Given the description of an element on the screen output the (x, y) to click on. 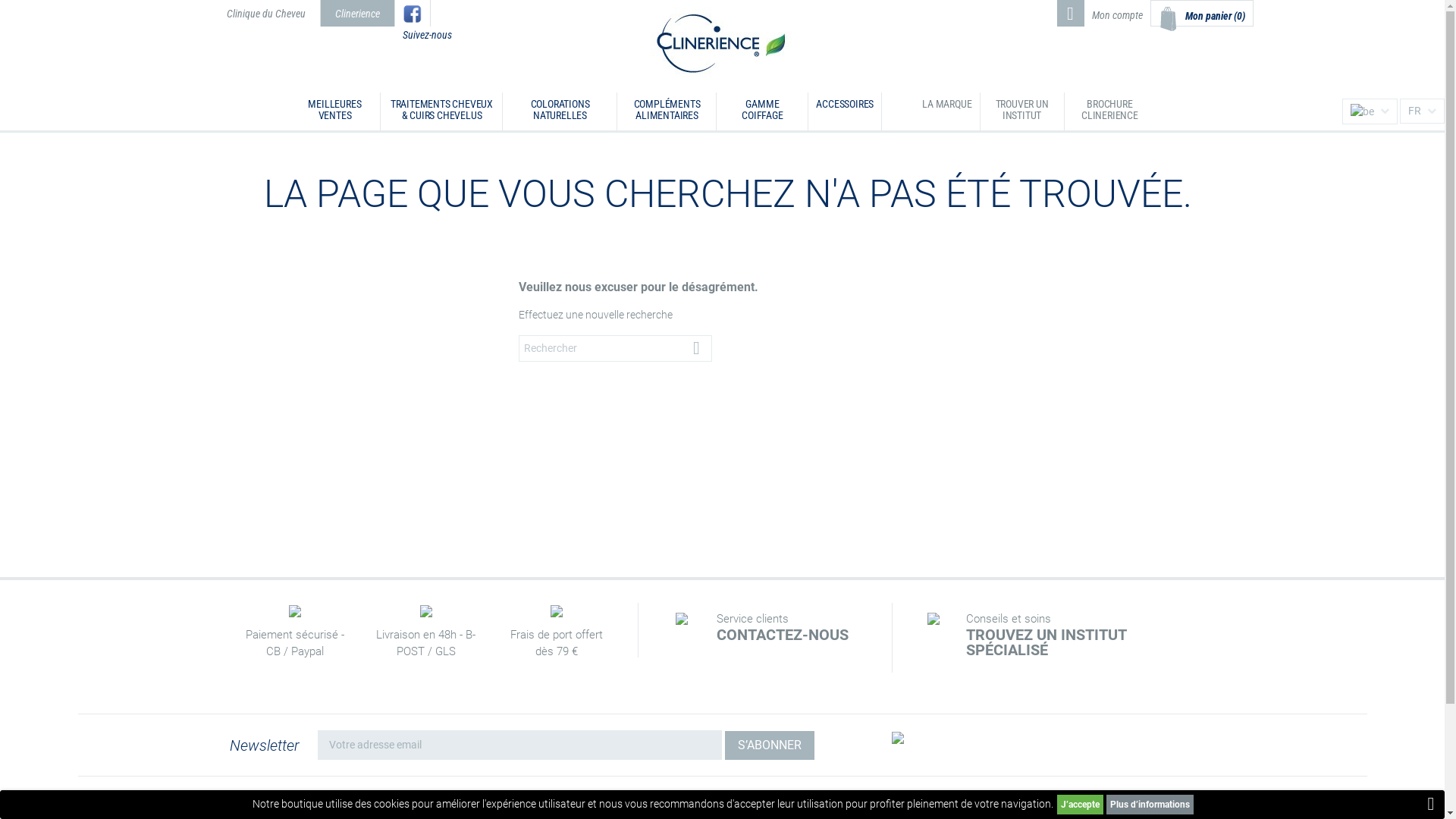
COLORATIONS NATURELLES Element type: text (559, 111)
BROCHURE CLINERIENCE Element type: text (1109, 111)
Clinerience Element type: text (357, 13)
LA MARQUE Element type: text (946, 111)
be Element type: hover (1362, 111)
FR Element type: text (1422, 110)
TROUVER UN INSTITUT Element type: text (1021, 111)
ACCESSOIRES Element type: text (844, 111)
MEILLEURES VENTES Element type: text (333, 111)
Mon compte Element type: text (1117, 13)
GAMME COIFFAGE Element type: text (761, 111)
Clinique du Cheveu Element type: text (266, 13)
TRAITEMENTS CHEVEUX & CUIRS CHEVELUS Element type: text (441, 111)
CONTACTEZ-NOUS Element type: text (792, 634)
